Given the description of an element on the screen output the (x, y) to click on. 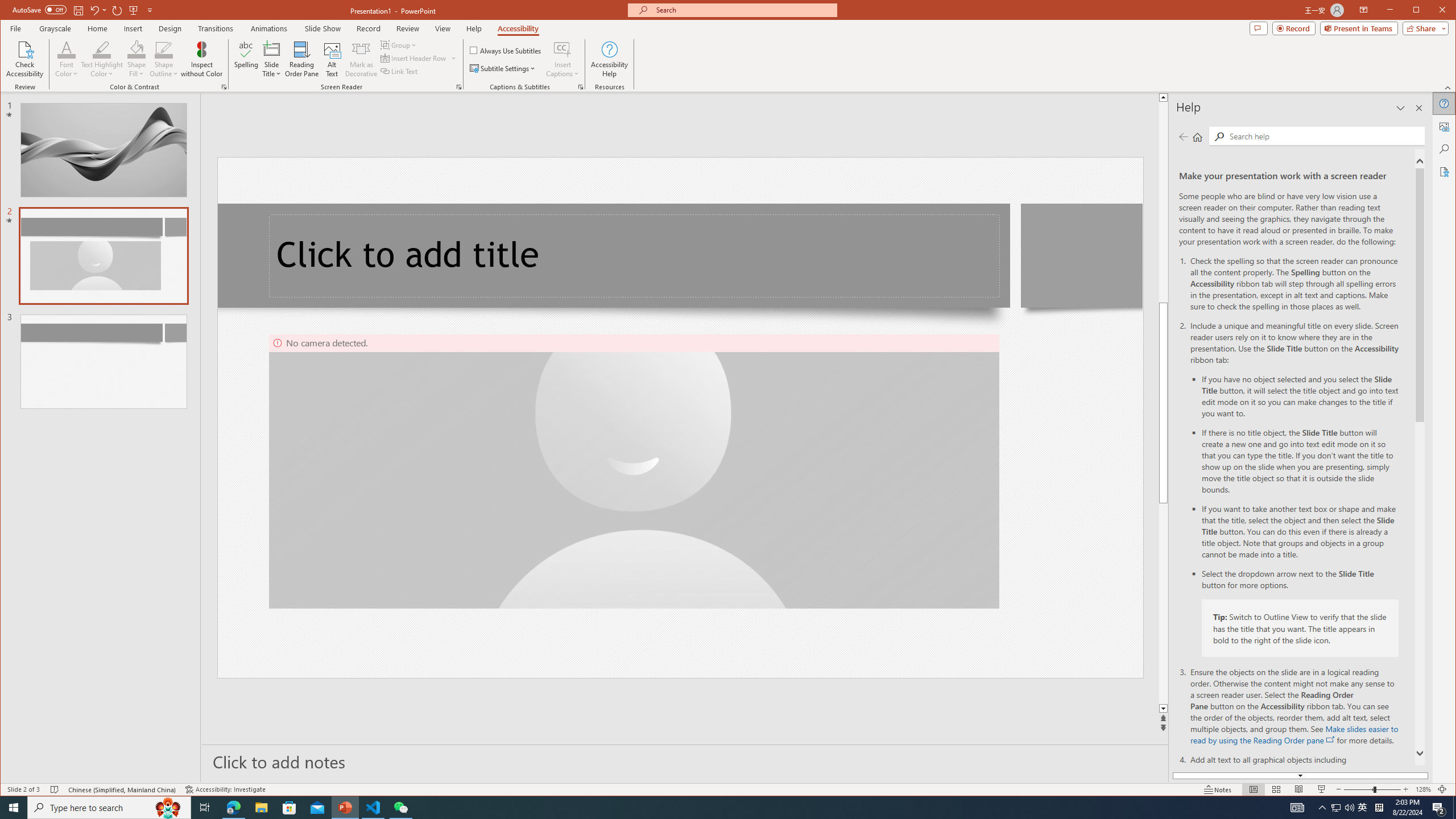
Check Accessibility (1362, 807)
Insert Captions (25, 59)
Microsoft Edge - 1 running window (562, 48)
